Given the description of an element on the screen output the (x, y) to click on. 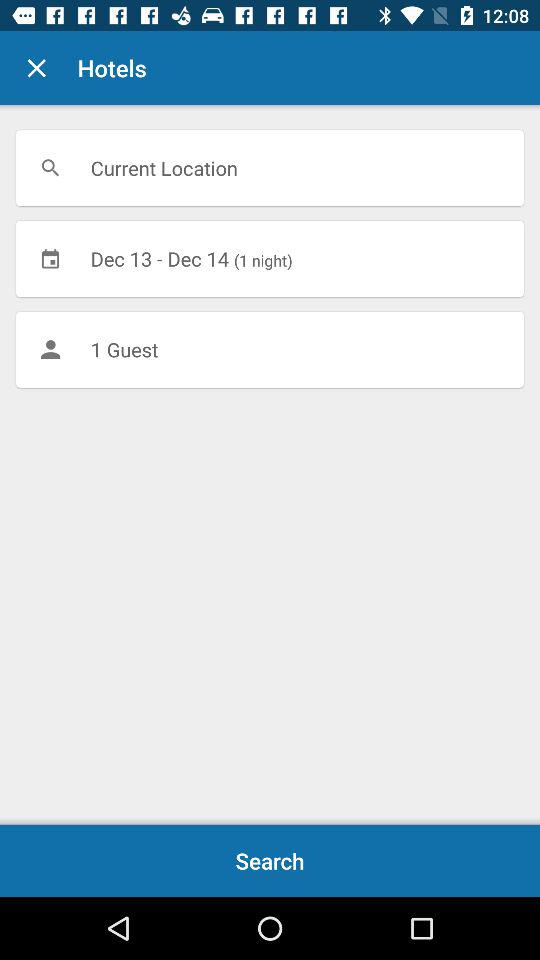
select the icon below dec 13 dec (269, 349)
